Given the description of an element on the screen output the (x, y) to click on. 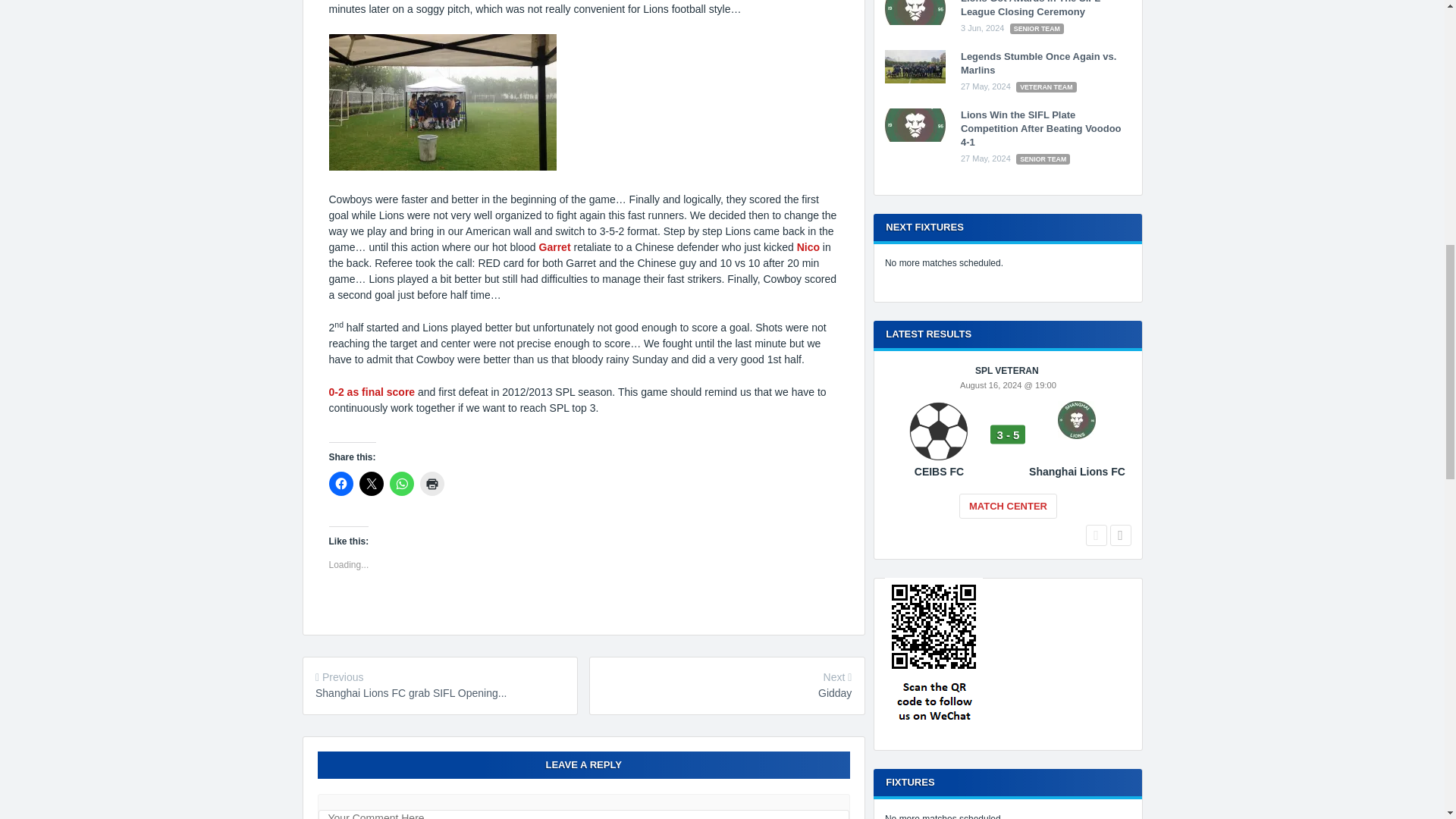
Garret Newell (554, 246)
SENIOR TEAM (1037, 28)
Click to share on WhatsApp (401, 483)
Lions Got Awards In The SIFL League Closing Ceremony (1030, 8)
Click to print (432, 483)
Click to share on X (371, 483)
0-2 as final score (371, 391)
Lions Got Awards In The SIFL League Closing Ceremony (914, 21)
Nico (807, 246)
Nicolas Mongrelet (807, 246)
